Given the description of an element on the screen output the (x, y) to click on. 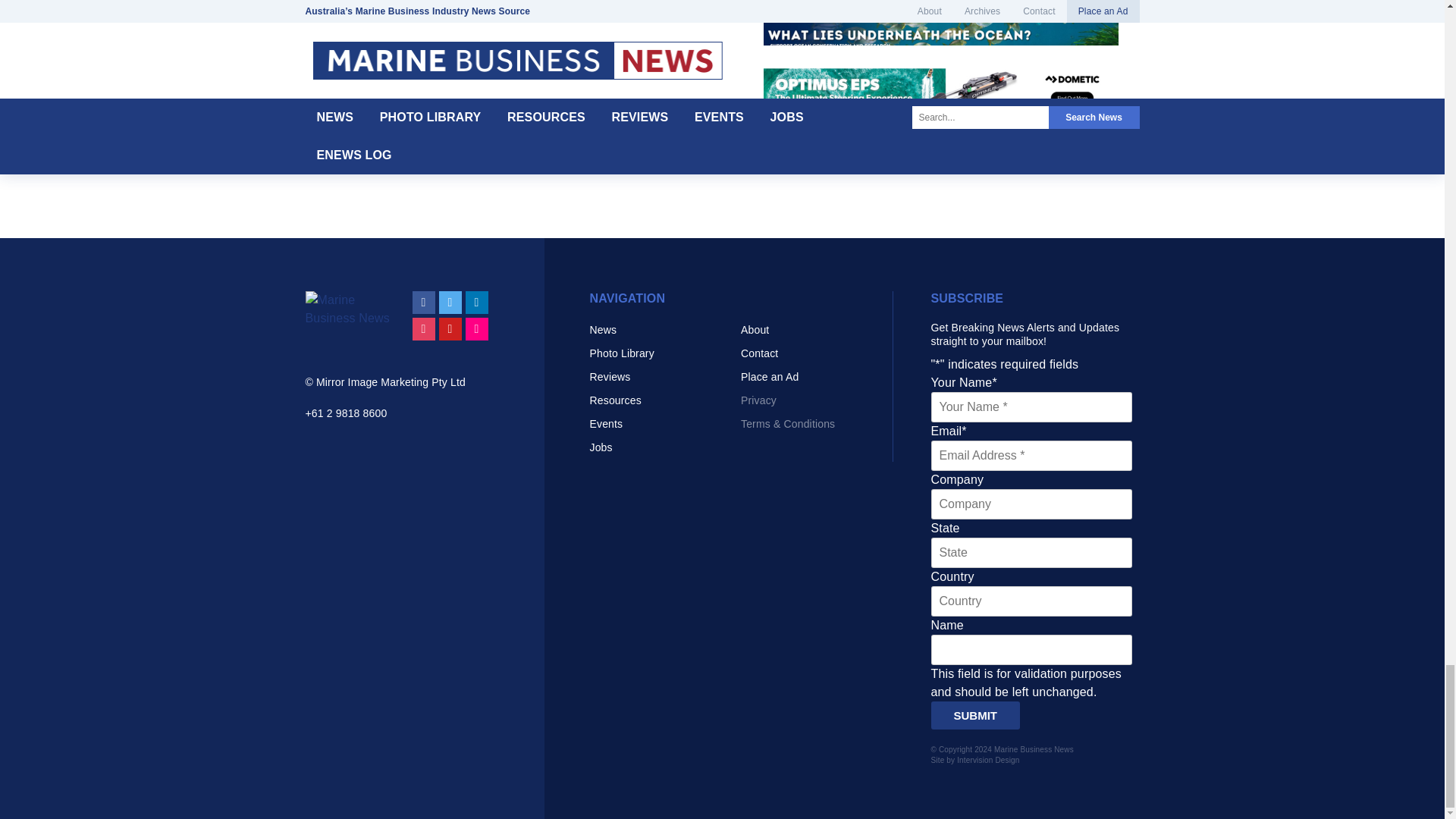
Intervision Design (987, 759)
Submit (975, 715)
